Given the description of an element on the screen output the (x, y) to click on. 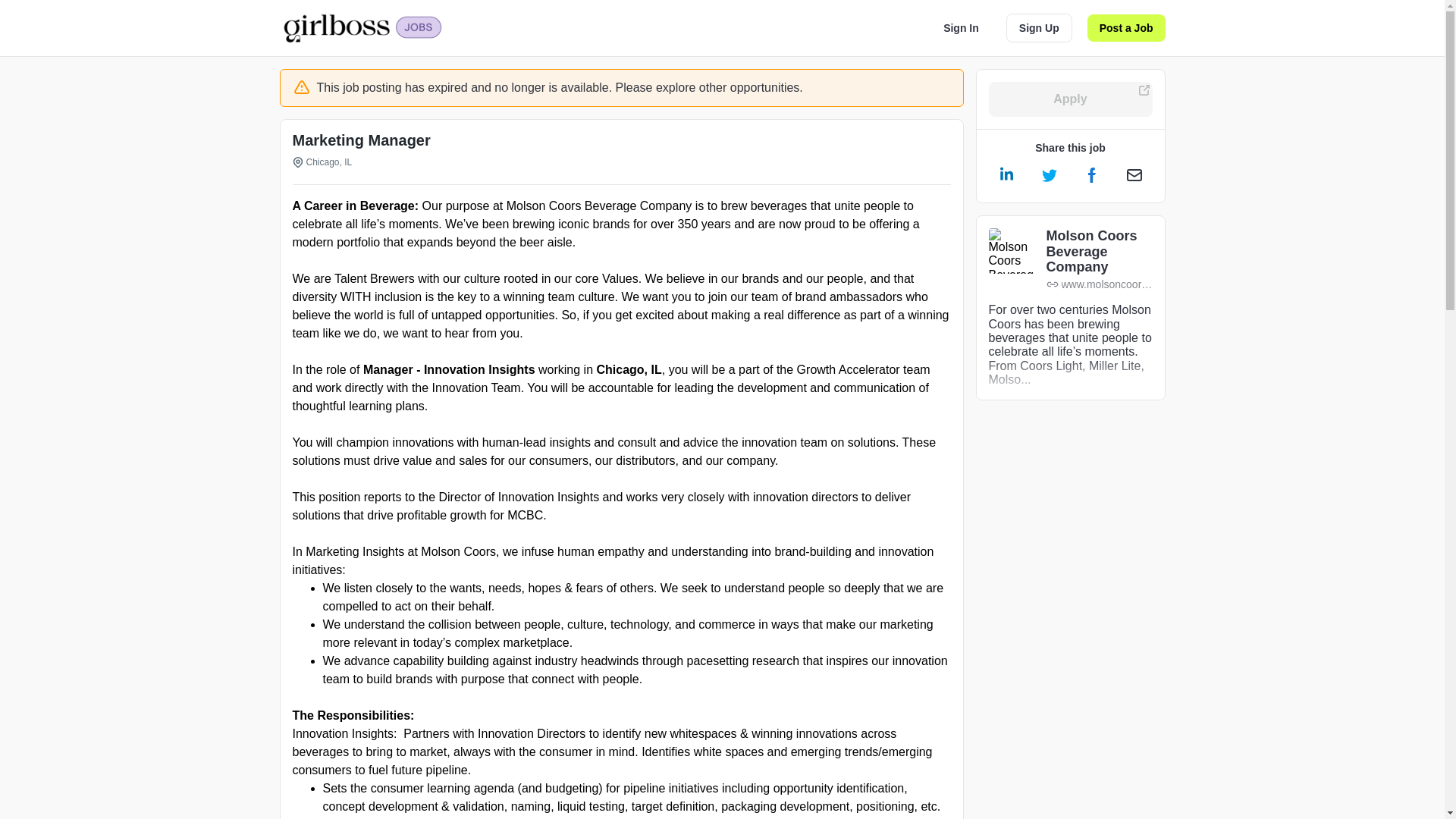
Molson Coors Beverage Company (1099, 251)
Apply (1070, 99)
Sign In (961, 27)
Sign Up (1038, 27)
Post a Job (1126, 27)
www.molsoncoors.com (1099, 284)
